Given the description of an element on the screen output the (x, y) to click on. 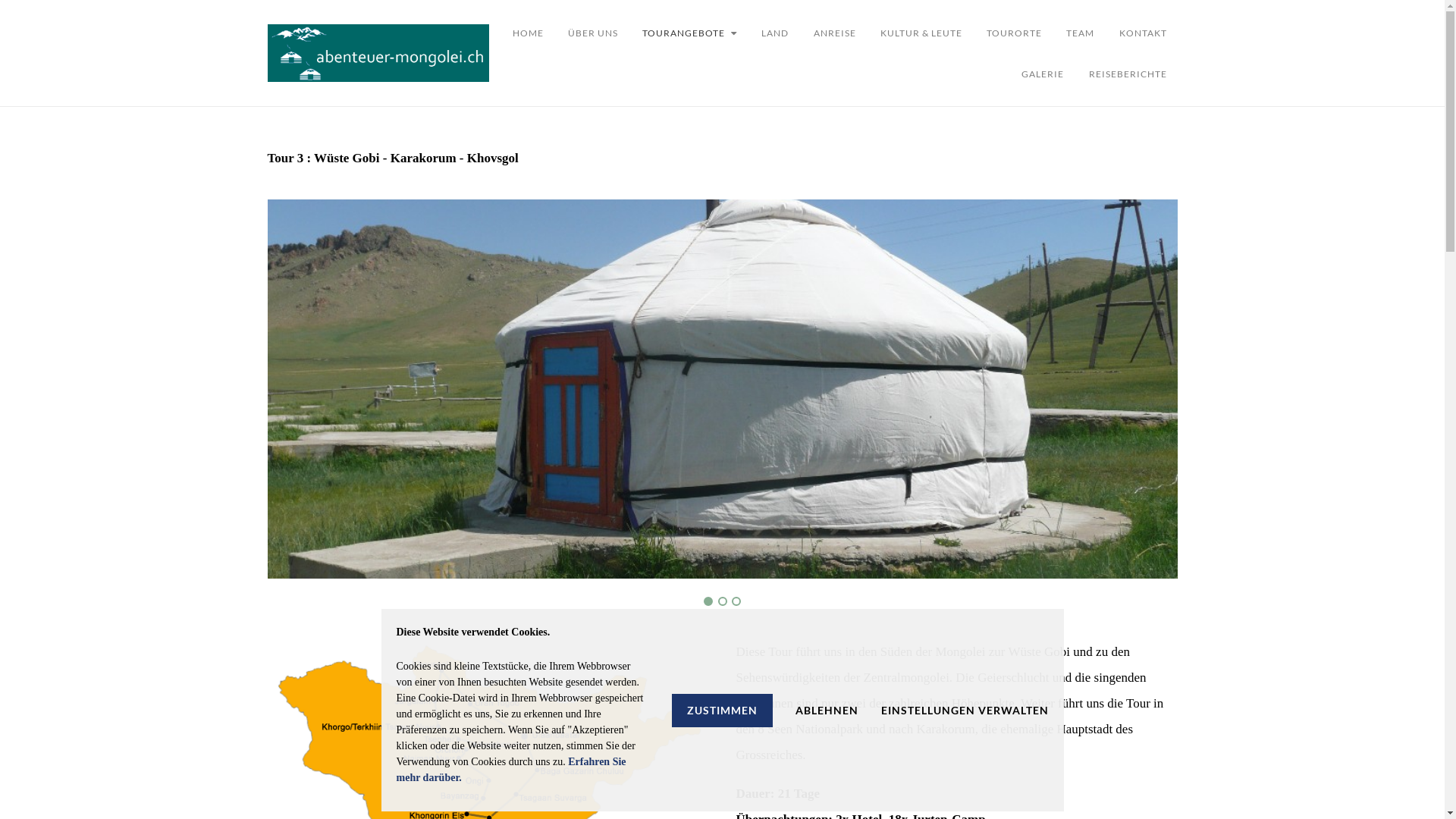
HOME Element type: text (533, 32)
KULTUR & LEUTE Element type: text (920, 32)
TEAM Element type: text (1079, 32)
REISEBERICHTE Element type: text (1127, 73)
TOURORTE Element type: text (1013, 32)
abenteuer-mongolei.ch Element type: hover (377, 53)
ANREISE Element type: text (834, 32)
ZUSTIMMEN Element type: text (721, 709)
GALERIE Element type: text (1042, 73)
3 Element type: text (735, 600)
1 Element type: text (707, 600)
ABLEHNEN Element type: text (825, 709)
2 Element type: text (721, 600)
KONTAKT Element type: text (1142, 32)
EINSTELLUNGEN VERWALTEN Element type: text (964, 709)
LAND Element type: text (774, 32)
